Given the description of an element on the screen output the (x, y) to click on. 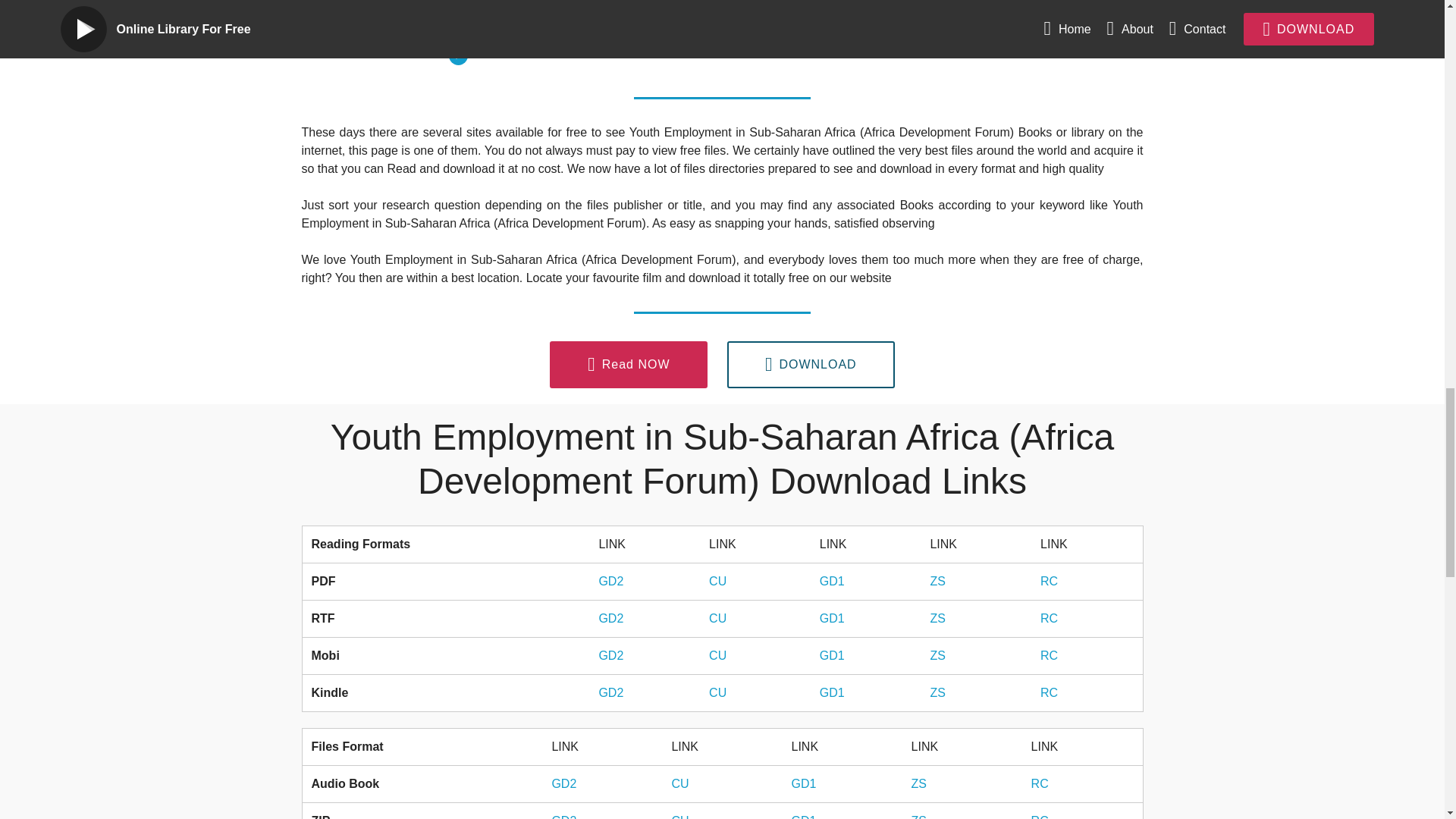
GD2 (563, 783)
ZS (918, 783)
ZS (937, 617)
GD2 (610, 655)
RC (1039, 783)
ZS (937, 692)
ZS (937, 581)
GD1 (802, 783)
RC (1049, 581)
CU (717, 655)
GD1 (831, 617)
CU (717, 581)
CU (717, 692)
GD2 (610, 692)
GD1 (802, 816)
